Given the description of an element on the screen output the (x, y) to click on. 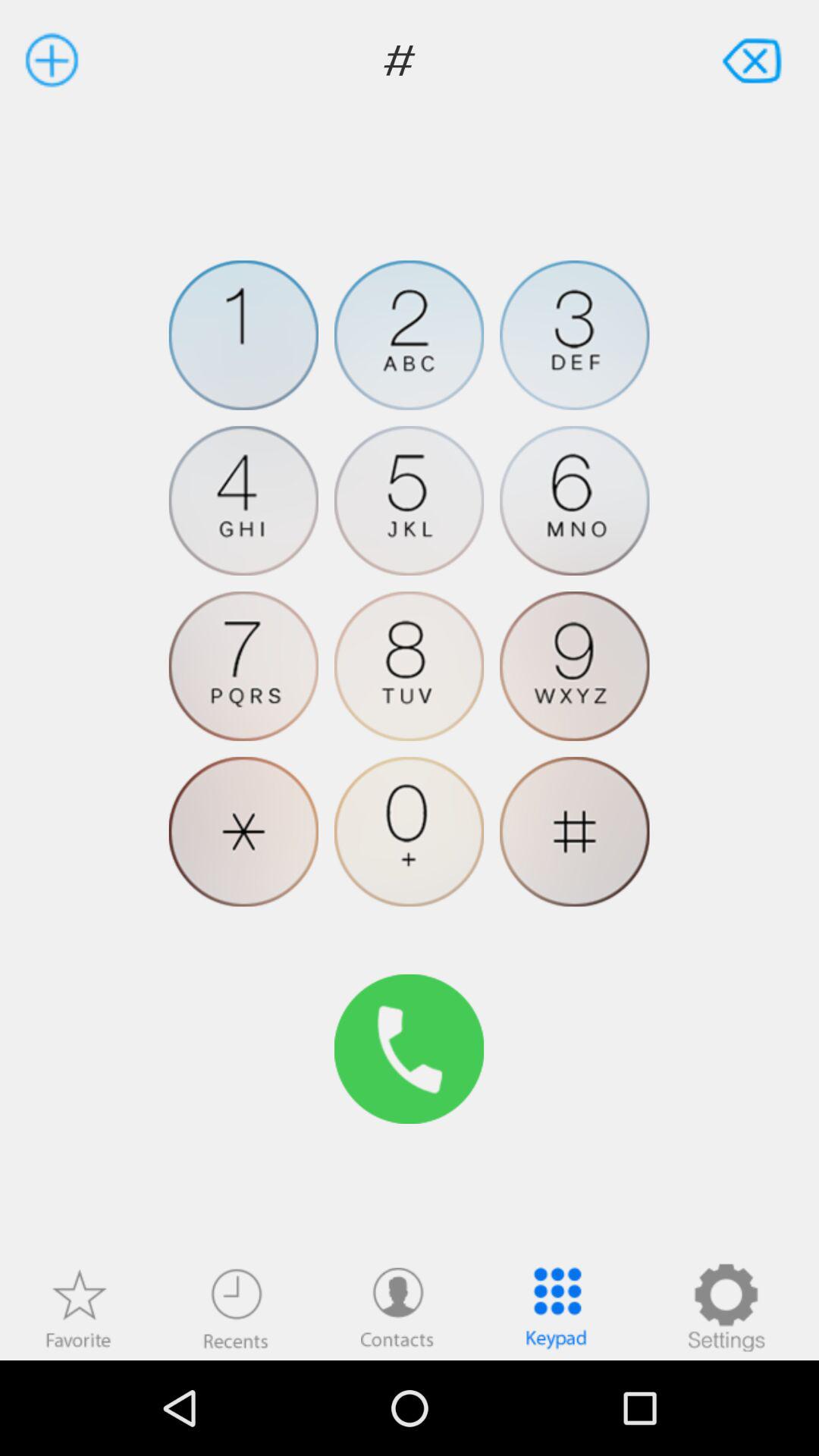
show keypad (556, 1307)
